Given the description of an element on the screen output the (x, y) to click on. 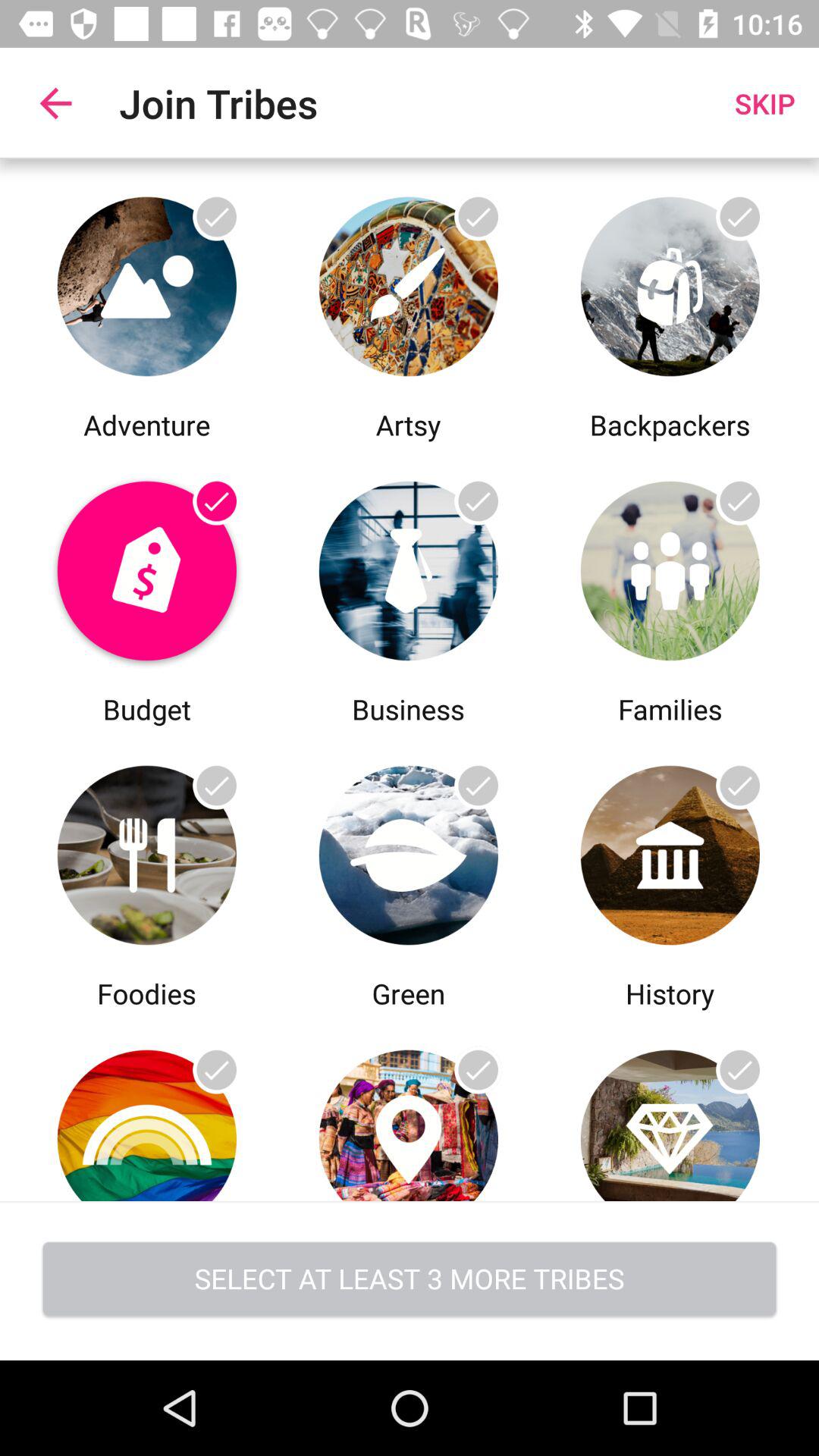
launch app to the left of join tribes item (55, 103)
